Given the description of an element on the screen output the (x, y) to click on. 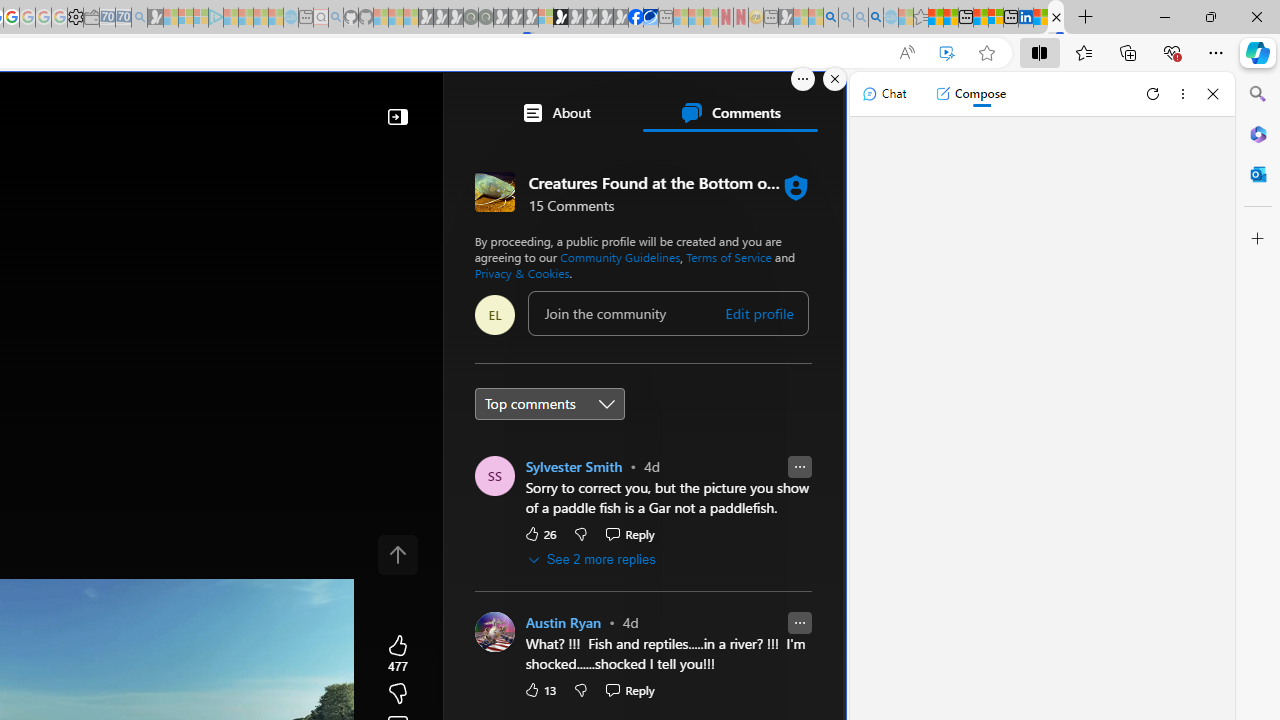
Aberdeen, Hong Kong SAR weather forecast | Microsoft Weather (950, 17)
Edit profile (758, 313)
